Given the description of an element on the screen output the (x, y) to click on. 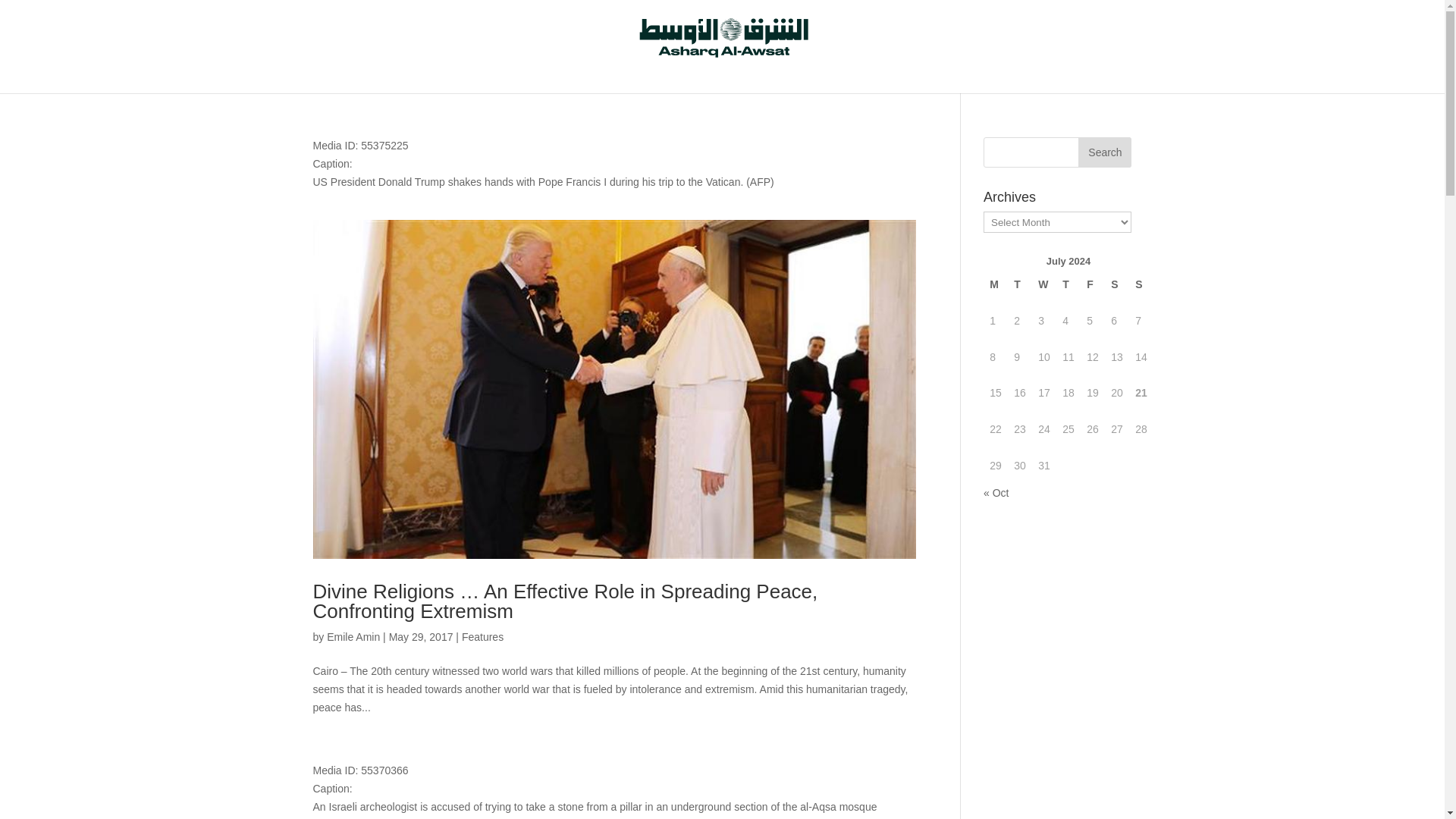
Search (1104, 152)
Search (1104, 152)
Features (482, 636)
Posts by Emile Amin (353, 636)
Emile Amin (353, 636)
